Given the description of an element on the screen output the (x, y) to click on. 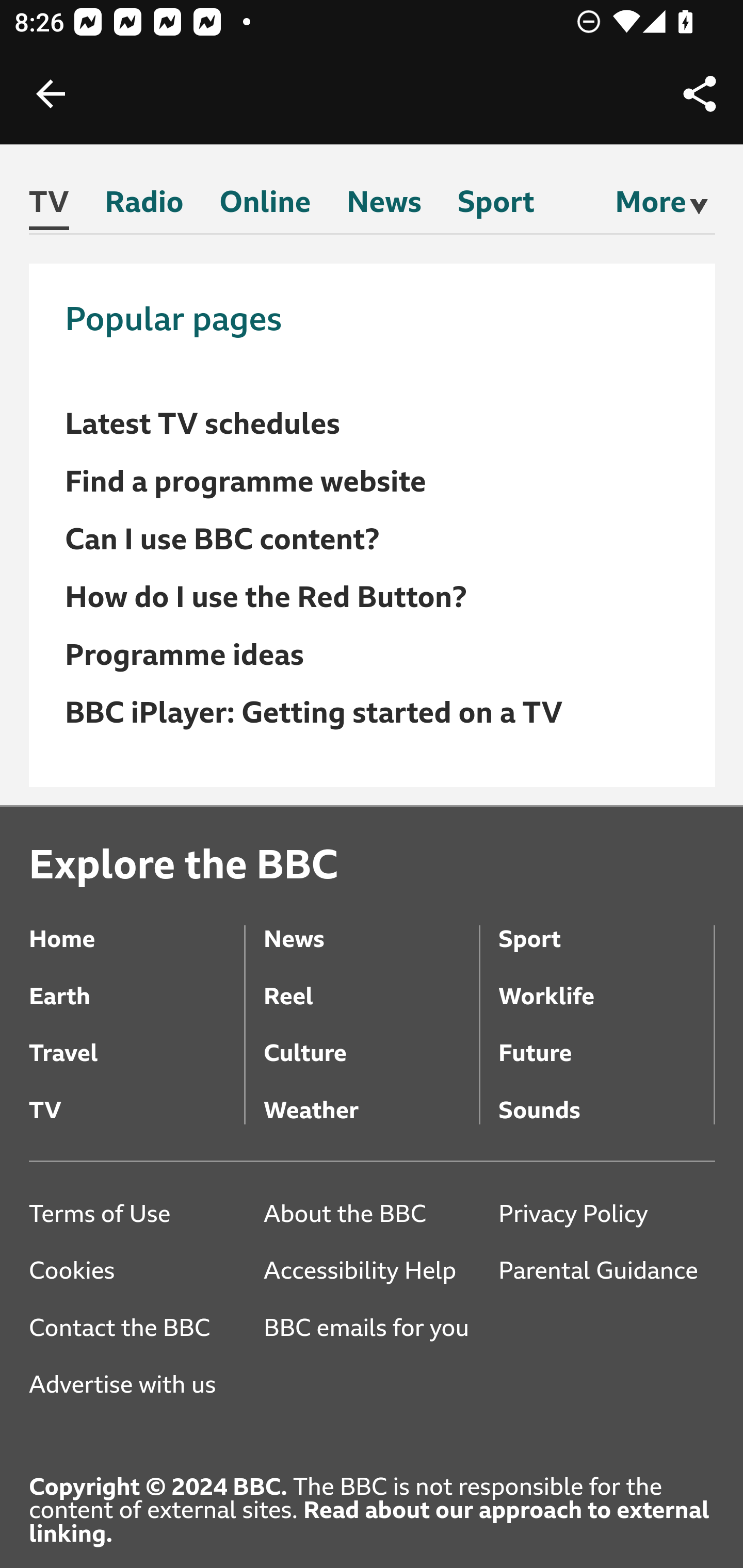
Back (50, 93)
Share (699, 93)
TV (48, 206)
Radio (144, 205)
Online (265, 205)
News (383, 205)
Sport (495, 205)
More (650, 202)
Latest TV schedules (203, 424)
Find a programme website (246, 482)
Can I use BBC content? (222, 540)
How do I use the Red Button? (266, 596)
Programme ideas (184, 654)
BBC iPlayer: Getting started on a TV (314, 712)
Home (136, 924)
News (370, 924)
Sport (606, 924)
Earth (136, 982)
Reel (370, 982)
Worklife (606, 982)
Travel (136, 1038)
Culture (370, 1038)
Future (606, 1038)
TV (136, 1095)
Weather (370, 1095)
Sounds (606, 1095)
Terms of Use (136, 1213)
About the BBC (370, 1213)
Privacy Policy (606, 1213)
Cookies (136, 1271)
Accessibility Help (370, 1271)
Parental Guidance (606, 1271)
Contact the BBC (136, 1327)
BBC emails for you (372, 1327)
Advertise with us (136, 1385)
Read about our approach to external linking. (368, 1521)
